Given the description of an element on the screen output the (x, y) to click on. 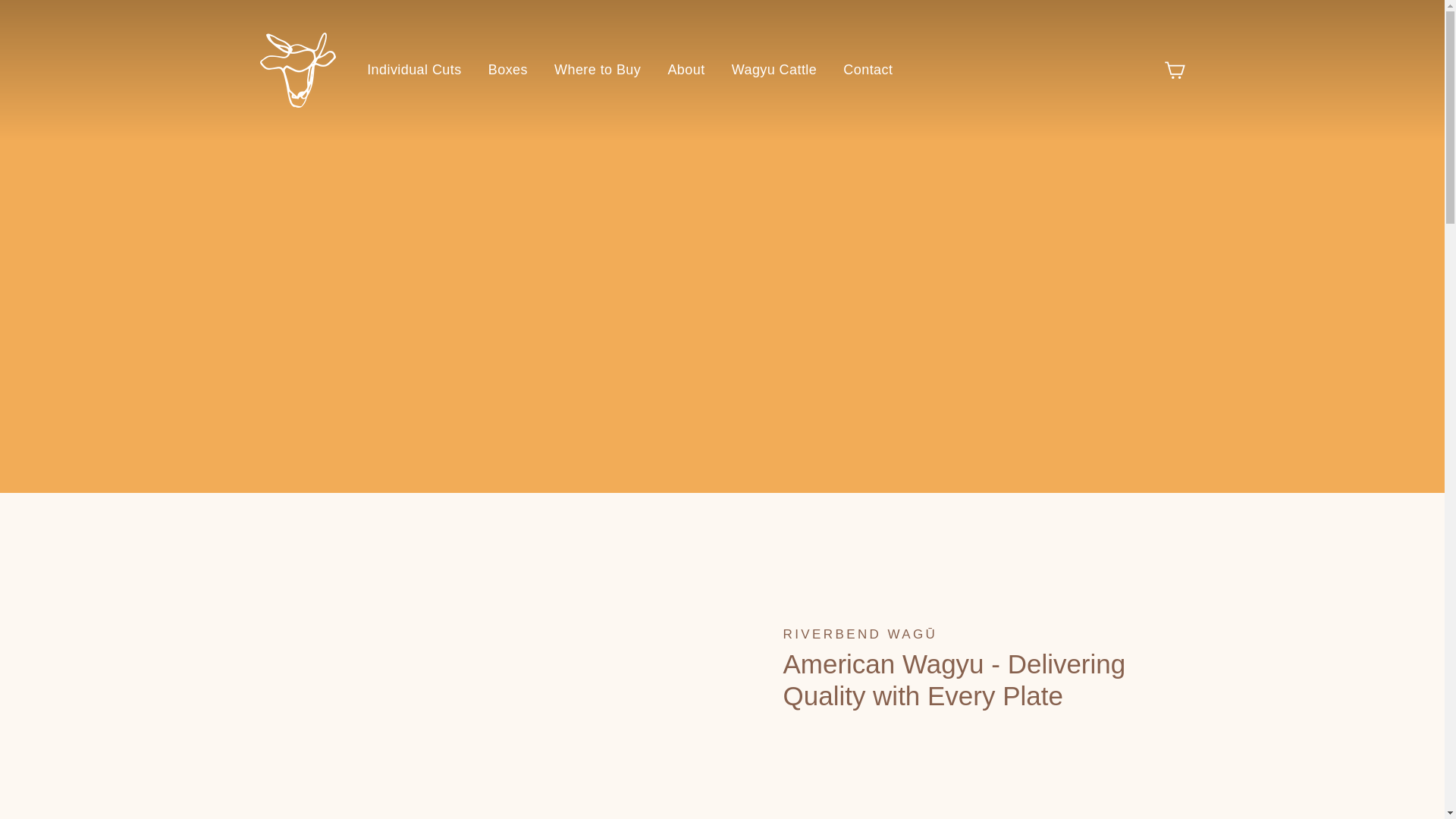
Individual Cuts (413, 70)
Cart (1173, 70)
Where to Buy (597, 70)
Boxes (507, 70)
Wagyu Cattle (774, 70)
About (686, 70)
Contact (867, 70)
